Given the description of an element on the screen output the (x, y) to click on. 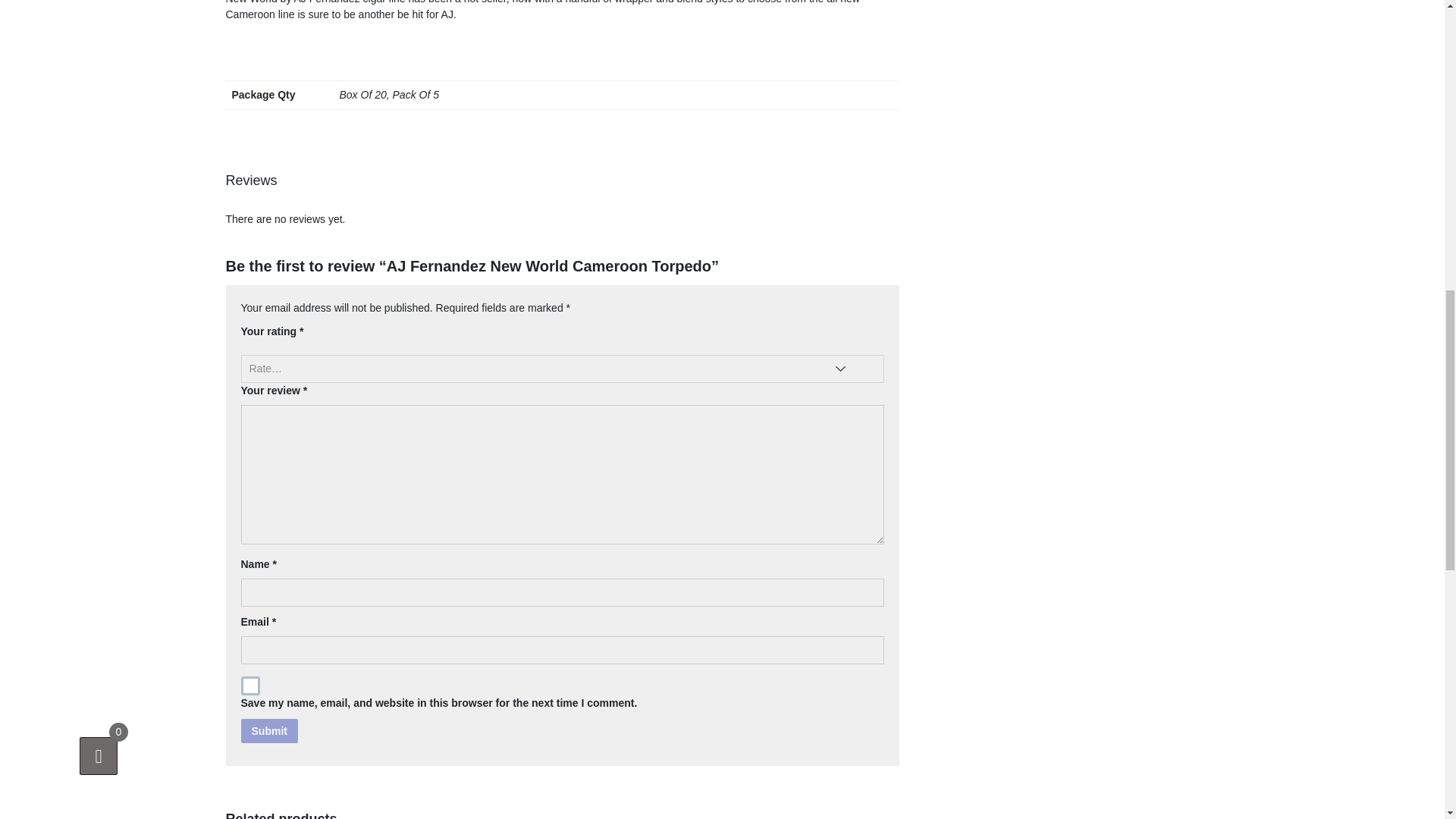
Submit (269, 730)
Submit (269, 730)
yes (250, 685)
